Given the description of an element on the screen output the (x, y) to click on. 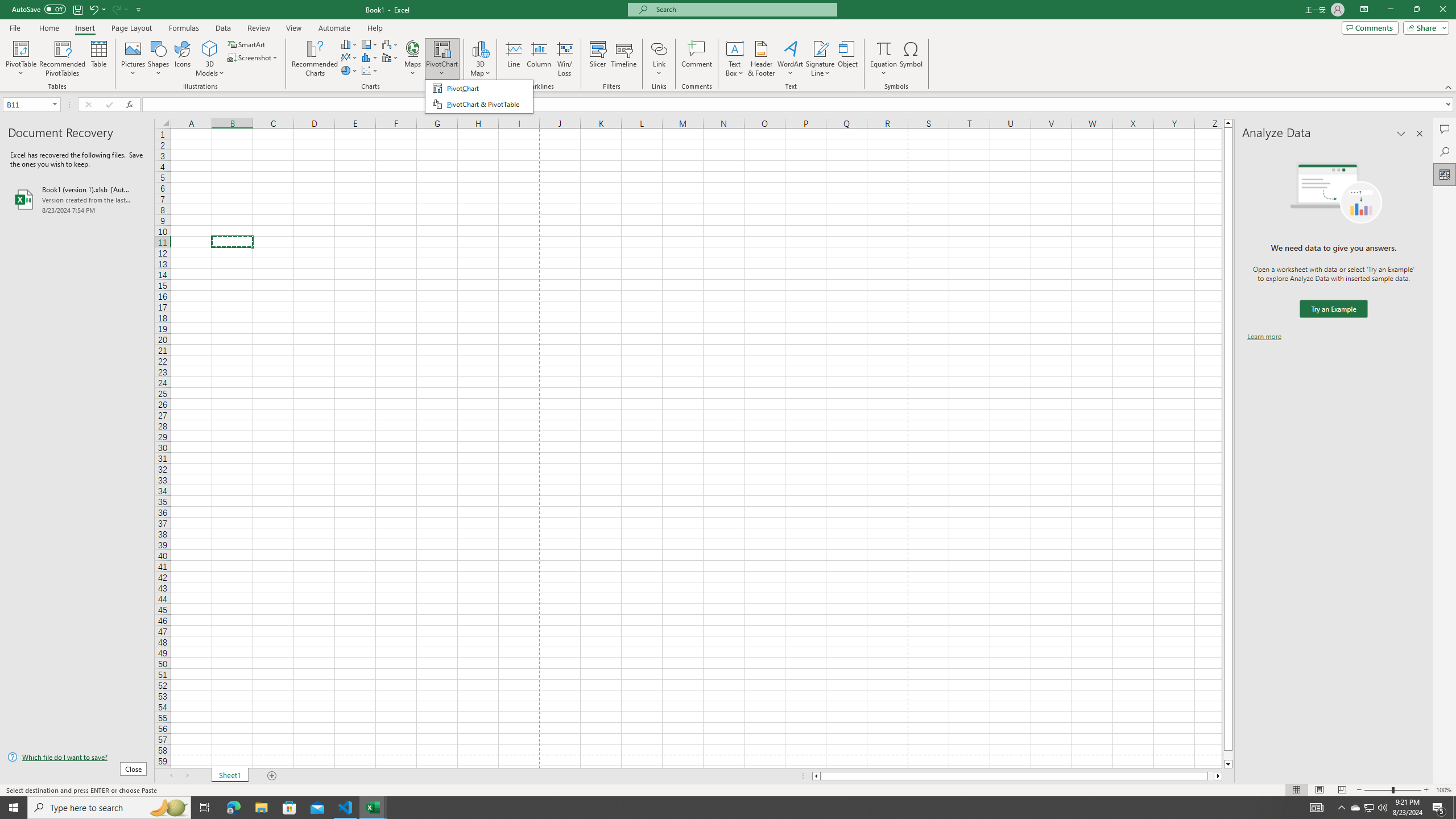
Comments (1369, 27)
Line down (1228, 764)
File Explorer (261, 807)
Data (223, 28)
Microsoft Edge (233, 807)
Quick Access Toolbar (77, 9)
Visual Studio Code - 1 running window (345, 807)
File Tab (15, 27)
Task View (204, 807)
Formulas (184, 28)
Insert Line or Area Chart (349, 56)
Search (1444, 151)
Minimize (1390, 9)
